Given the description of an element on the screen output the (x, y) to click on. 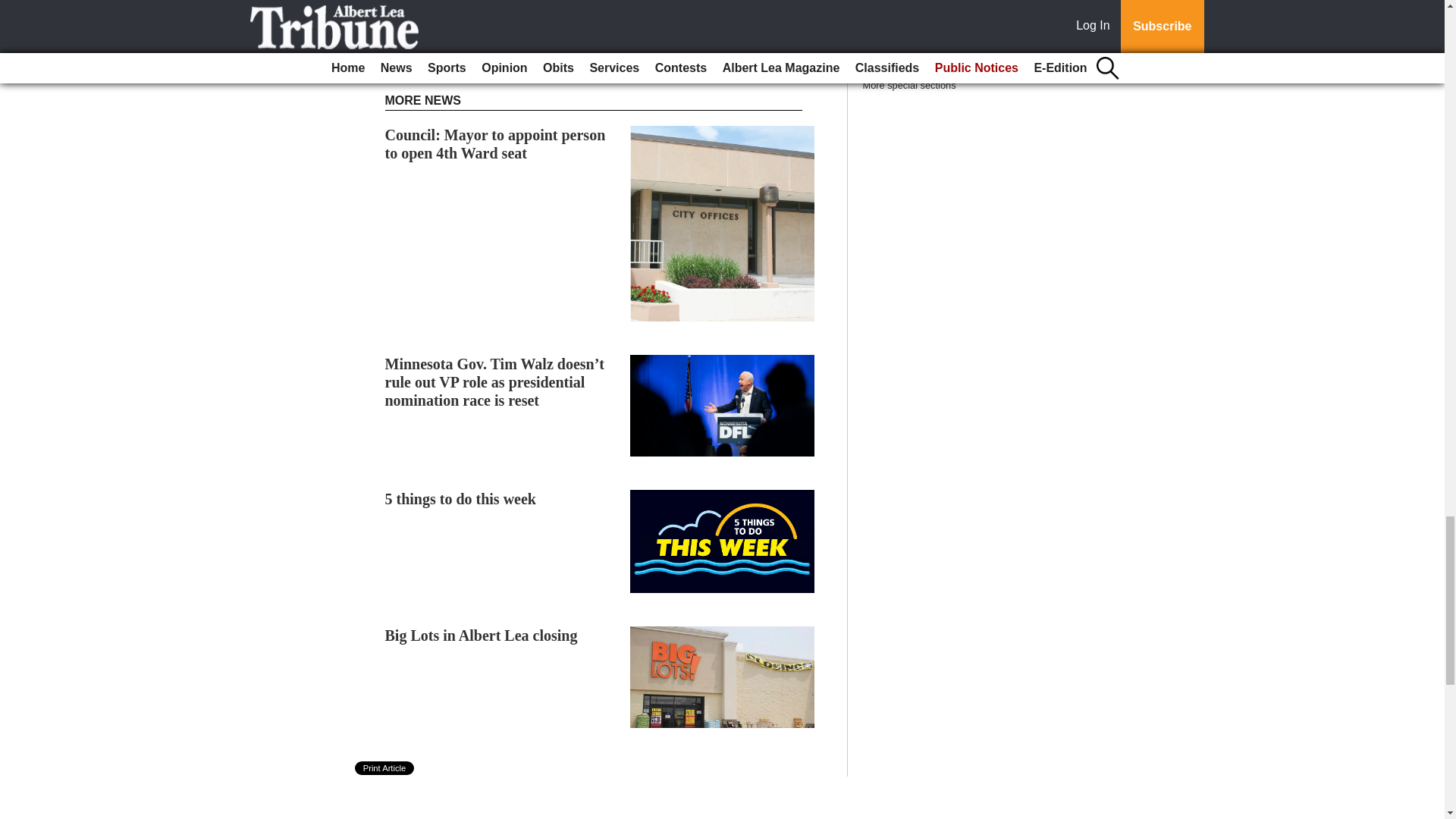
Council: Mayor to appoint person to open 4th Ward seat (495, 143)
Big Lots in Albert Lea closing (481, 635)
5 things to do this week (460, 498)
